Given the description of an element on the screen output the (x, y) to click on. 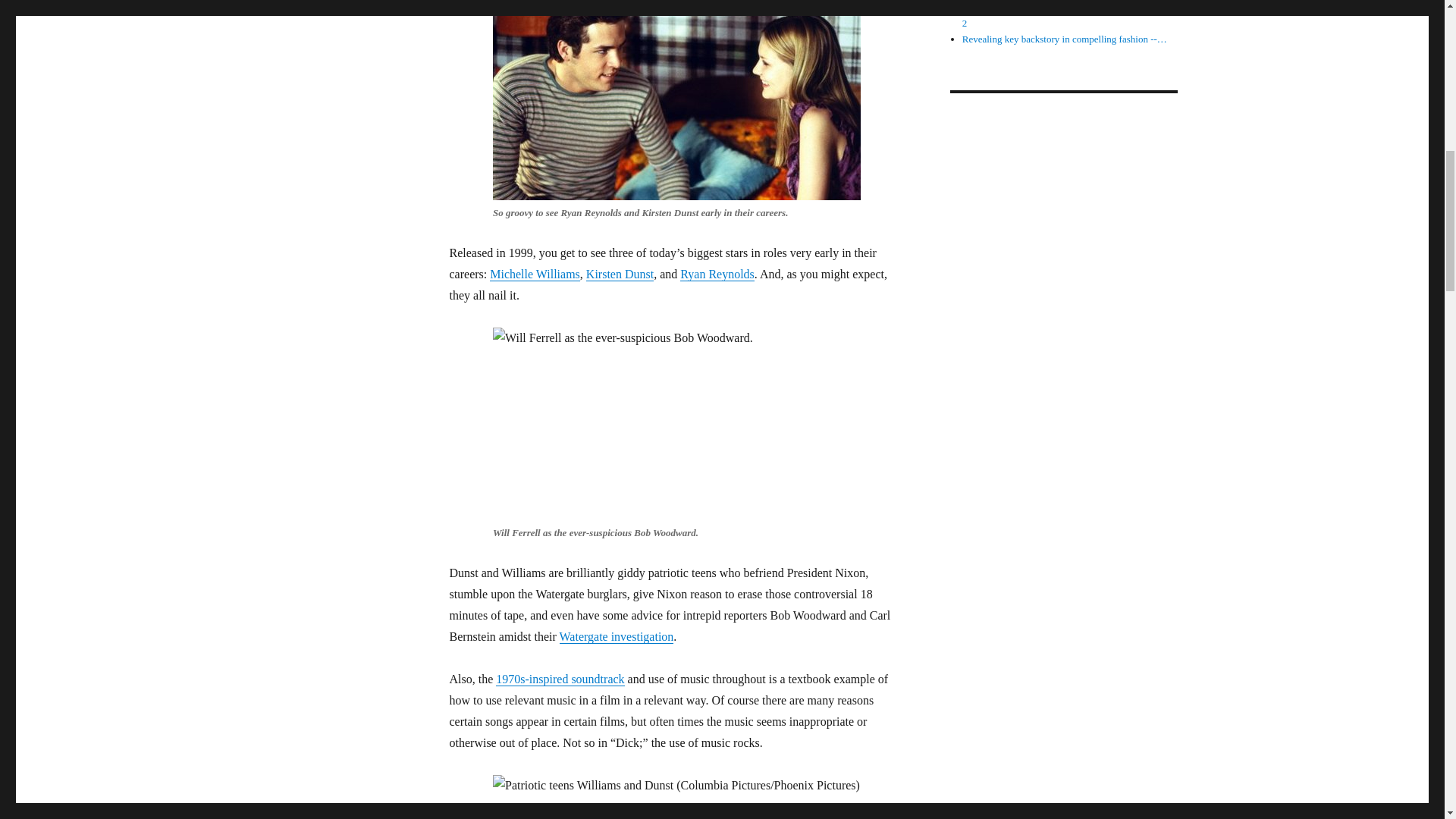
Watergate investigation (616, 635)
Kirsten Dunst (619, 273)
Ryan Reynolds (716, 273)
1970s-inspired soundtrack (560, 678)
Michelle Williams (534, 273)
